Given the description of an element on the screen output the (x, y) to click on. 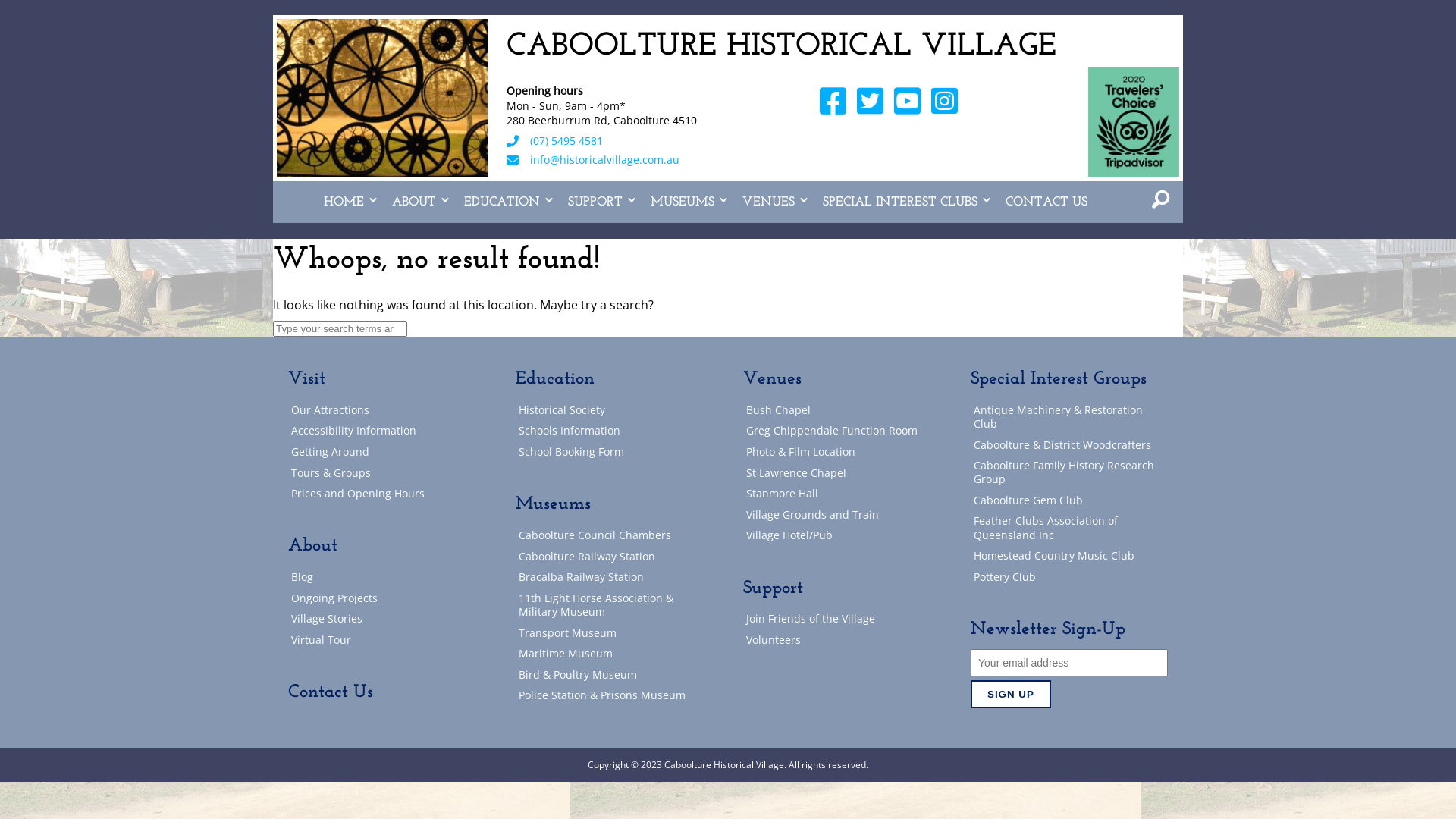
Caboolture Gem Club Element type: text (1068, 500)
Maritime Museum Element type: text (613, 653)
Venues Element type: text (772, 379)
Education Element type: text (554, 379)
Schools Information Element type: text (613, 430)
Tours & Groups Element type: text (386, 472)
VENUES Element type: text (770, 202)
EDUCATION Element type: text (504, 202)
SUPPORT Element type: text (597, 202)
Village Grounds and Train Element type: text (841, 514)
Special Interest Groups Element type: text (1058, 379)
Prices and Opening Hours Element type: text (386, 493)
Caboolture Railway Station Element type: text (613, 556)
chv wheels logo Element type: hover (381, 97)
CONTACT US Element type: text (1046, 202)
Join Friends of the Village Element type: text (841, 618)
Bush Chapel Element type: text (841, 410)
MUSEUMS Element type: text (685, 202)
Feather Clubs Association of Queensland Inc Element type: text (1068, 528)
Support Element type: text (773, 588)
Bird & Poultry Museum Element type: text (613, 675)
Caboolture & District Woodcrafters Element type: text (1068, 444)
Visit Element type: text (306, 379)
Caboolture Council Chambers Element type: text (613, 535)
(07) 5495 4581 Element type: text (566, 140)
St Lawrence Chapel Element type: text (841, 472)
Sign up Element type: text (1010, 694)
ABOUT Element type: text (415, 202)
Homestead Country Music Club Element type: text (1068, 556)
11th Light Horse Association & Military Museum Element type: text (613, 605)
Historical Society Element type: text (613, 410)
SPECIAL INTEREST CLUBS Element type: text (902, 202)
Accessibility Information Element type: text (386, 430)
Ongoing Projects Element type: text (386, 598)
Blog Element type: text (386, 577)
CABOOLTURE HISTORICAL VILLAGE Element type: text (781, 46)
Caboolture Family History Research Group Element type: text (1068, 472)
HOME Element type: text (345, 202)
Transport Museum Element type: text (613, 632)
Village Hotel/Pub Element type: text (841, 535)
Pottery Club Element type: text (1068, 577)
Stanmore Hall Element type: text (841, 493)
Virtual Tour Element type: text (386, 640)
trip advisor travelers choice 2020 Element type: hover (1133, 121)
Getting Around Element type: text (386, 452)
Museums Element type: text (552, 504)
About Element type: text (312, 545)
info@historicalvillage.com.au Element type: text (604, 159)
Bracalba Railway Station Element type: text (613, 577)
Contact Us Element type: text (330, 692)
Volunteers Element type: text (841, 640)
School Booking Form Element type: text (613, 452)
Greg Chippendale Function Room Element type: text (841, 430)
Village Stories Element type: text (386, 618)
Police Station & Prisons Museum Element type: text (613, 695)
Photo & Film Location Element type: text (841, 452)
Our Attractions Element type: text (386, 410)
Antique Machinery & Restoration Club Element type: text (1068, 417)
